Given the description of an element on the screen output the (x, y) to click on. 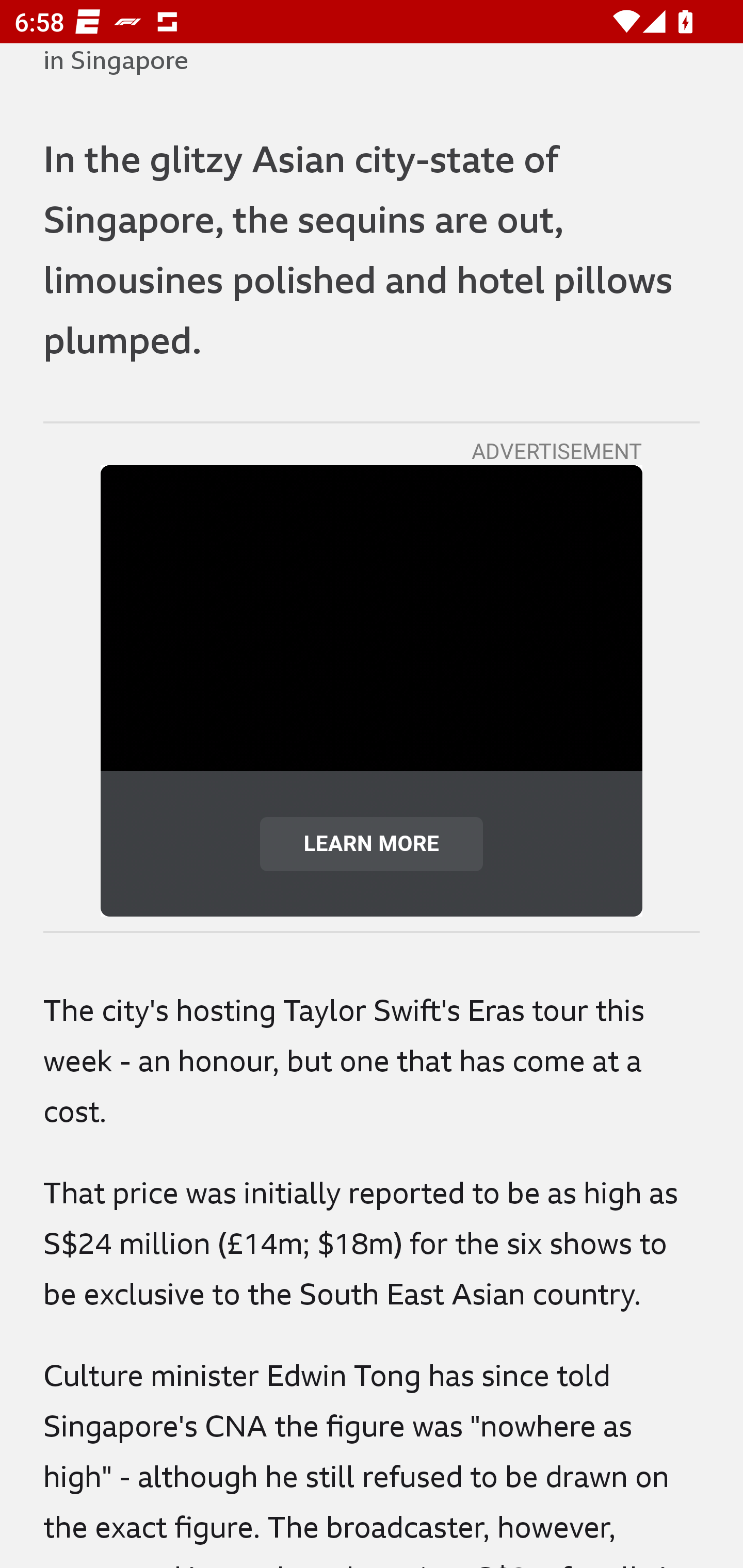
Video Player   LEARN MORE (371, 691)
LEARN MORE (371, 843)
